Given the description of an element on the screen output the (x, y) to click on. 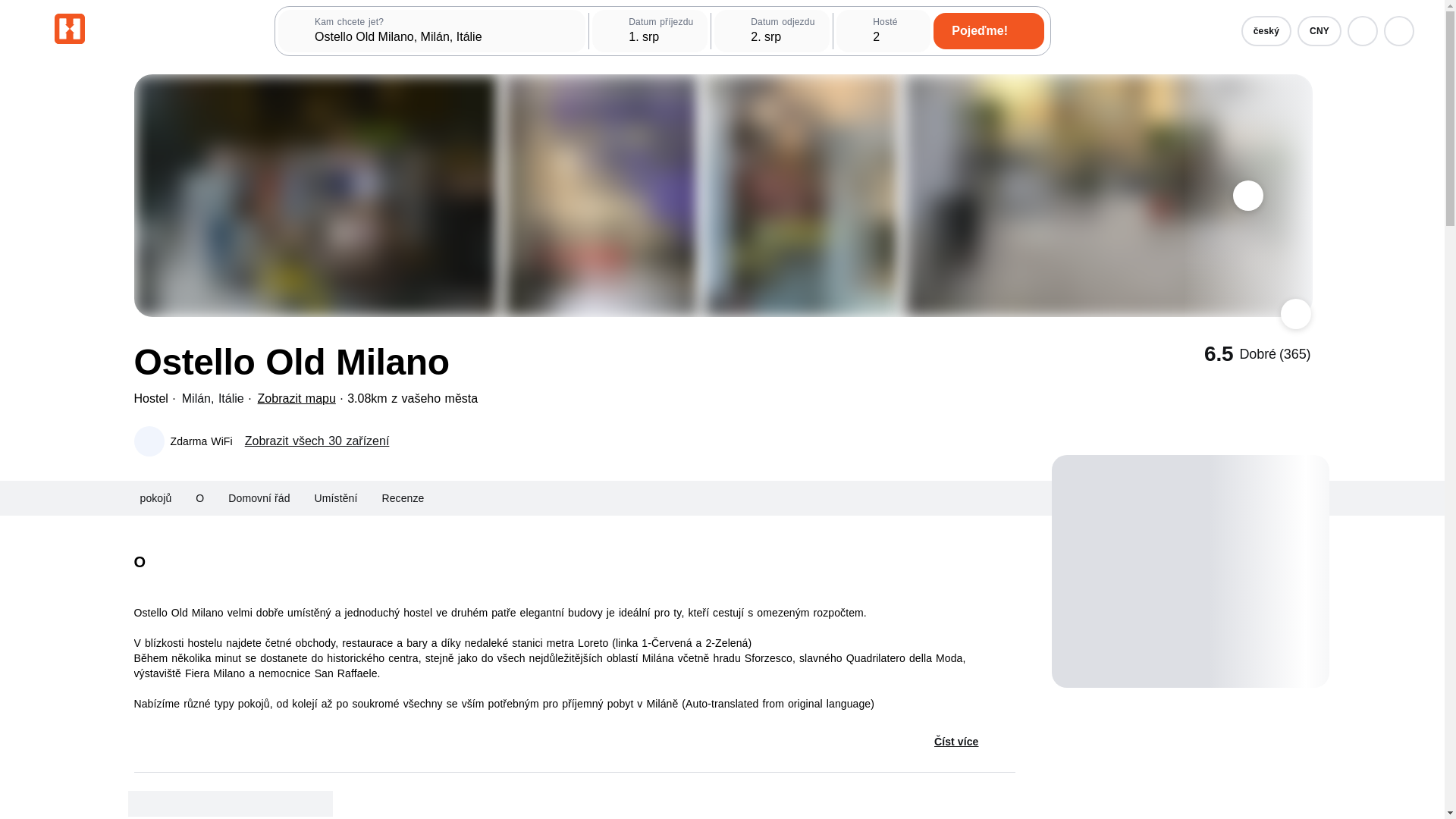
2 (884, 30)
2. srp (771, 30)
Recenze (402, 497)
CNY (1318, 30)
1. srp (649, 30)
hw-icon (69, 28)
